Given the description of an element on the screen output the (x, y) to click on. 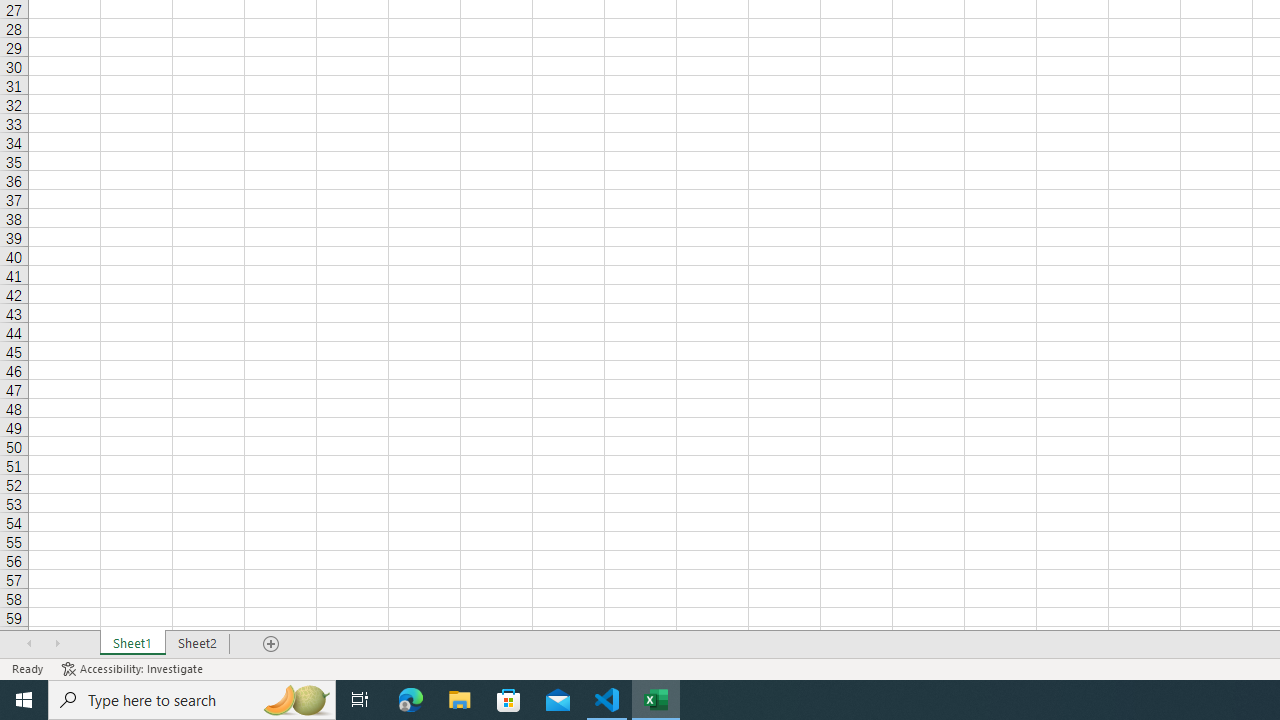
Sheet2 (197, 644)
Accessibility Checker Accessibility: Investigate (134, 668)
